Given the description of an element on the screen output the (x, y) to click on. 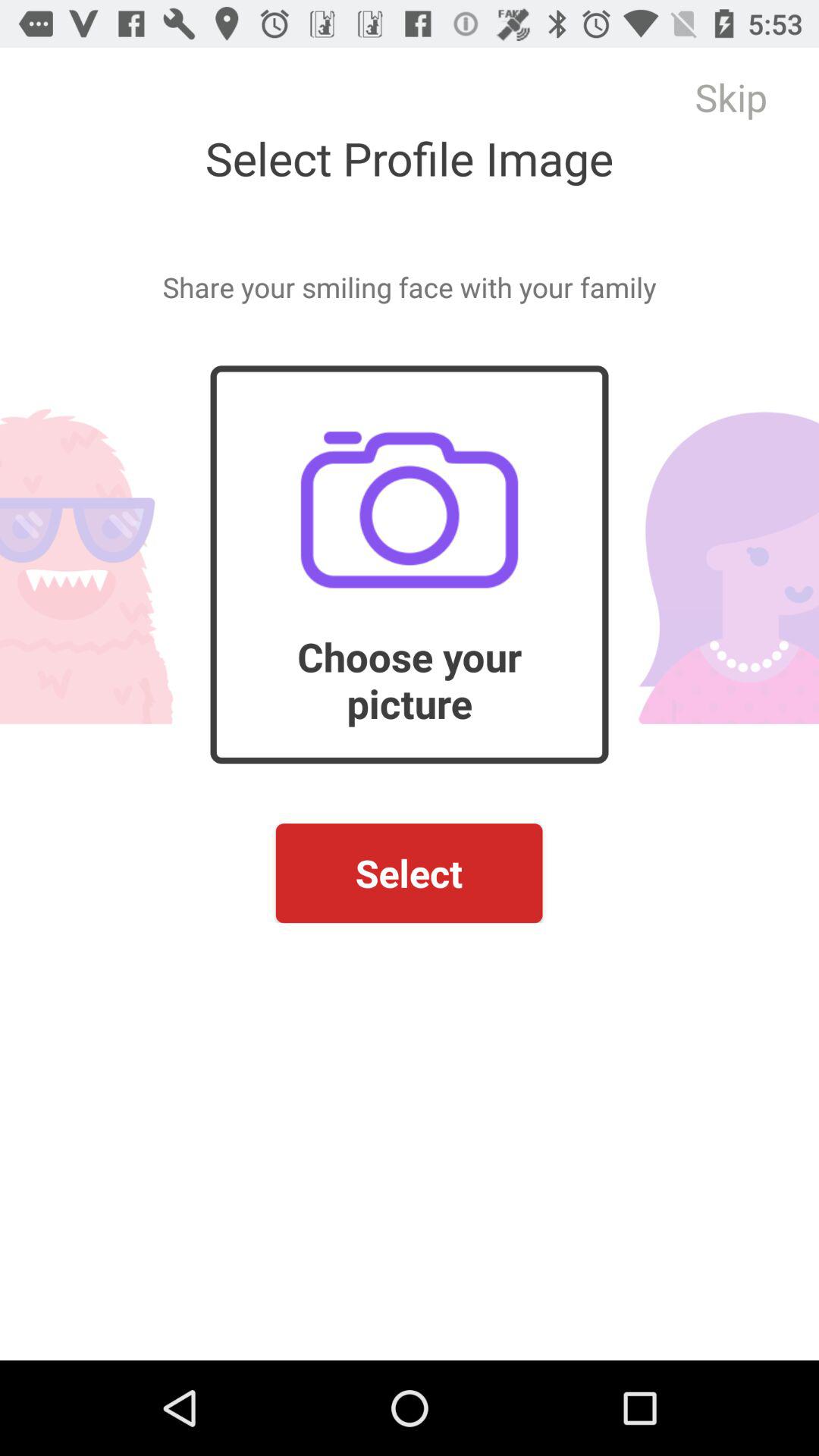
turn on the icon above the share your smiling icon (731, 97)
